Given the description of an element on the screen output the (x, y) to click on. 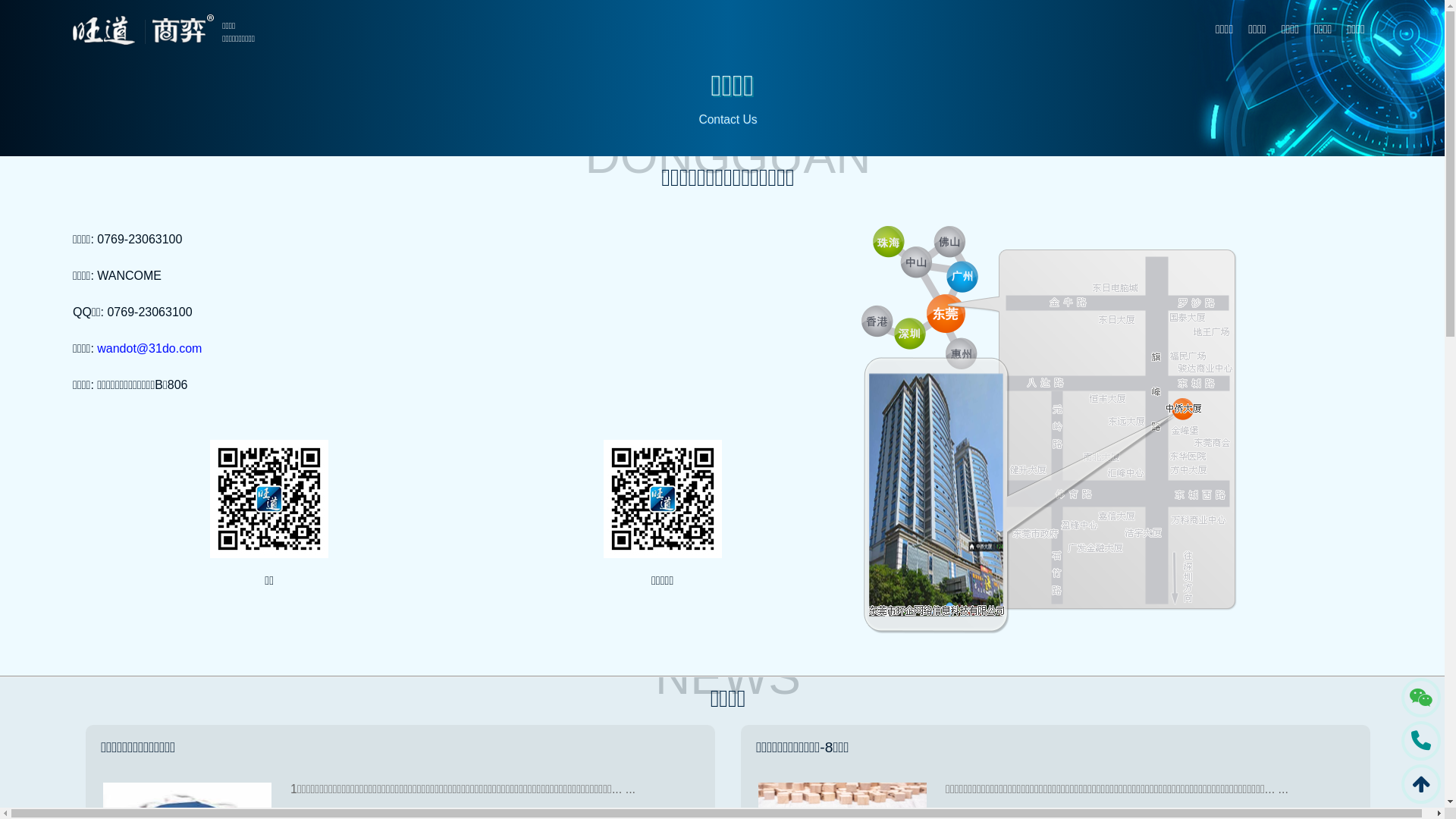
wandot@31do.com Element type: text (149, 348)
